Given the description of an element on the screen output the (x, y) to click on. 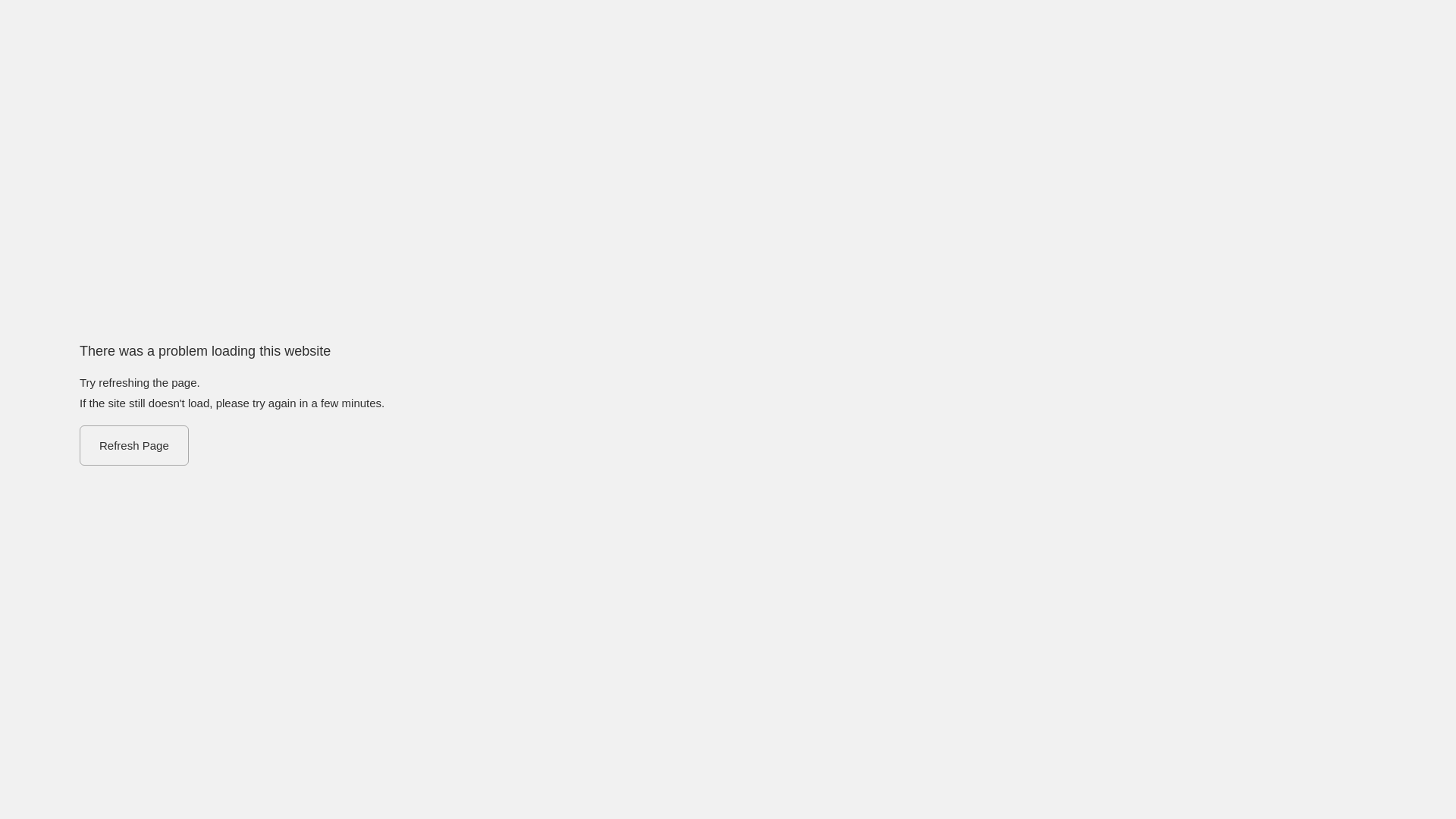
Refresh Page Element type: text (133, 445)
